Given the description of an element on the screen output the (x, y) to click on. 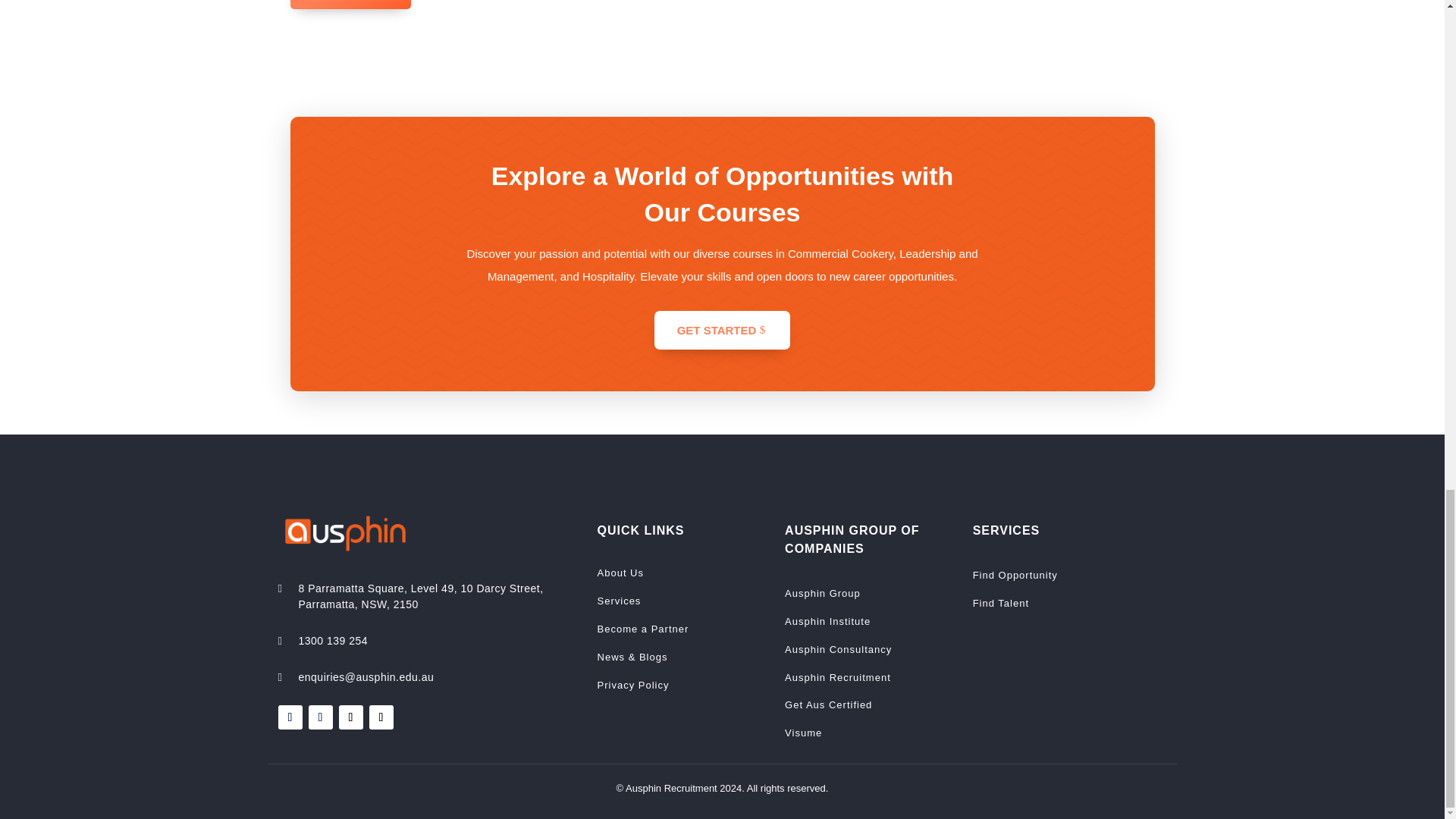
About Us (619, 574)
Get Aus Certified (828, 706)
Auskills-Logo (949, 1)
Ausphin Recruitment (837, 679)
Ausphin Consultancy (837, 651)
Become a Partner (642, 630)
Ausphin Institute (827, 622)
Services (619, 602)
Visume (803, 734)
Ausphin-Logo (345, 533)
GET STARTED (721, 330)
Follow on Facebook (289, 717)
Follow on LinkedIn (349, 717)
Follow on Instagram (319, 717)
Follow on Youtube (380, 717)
